Given the description of an element on the screen output the (x, y) to click on. 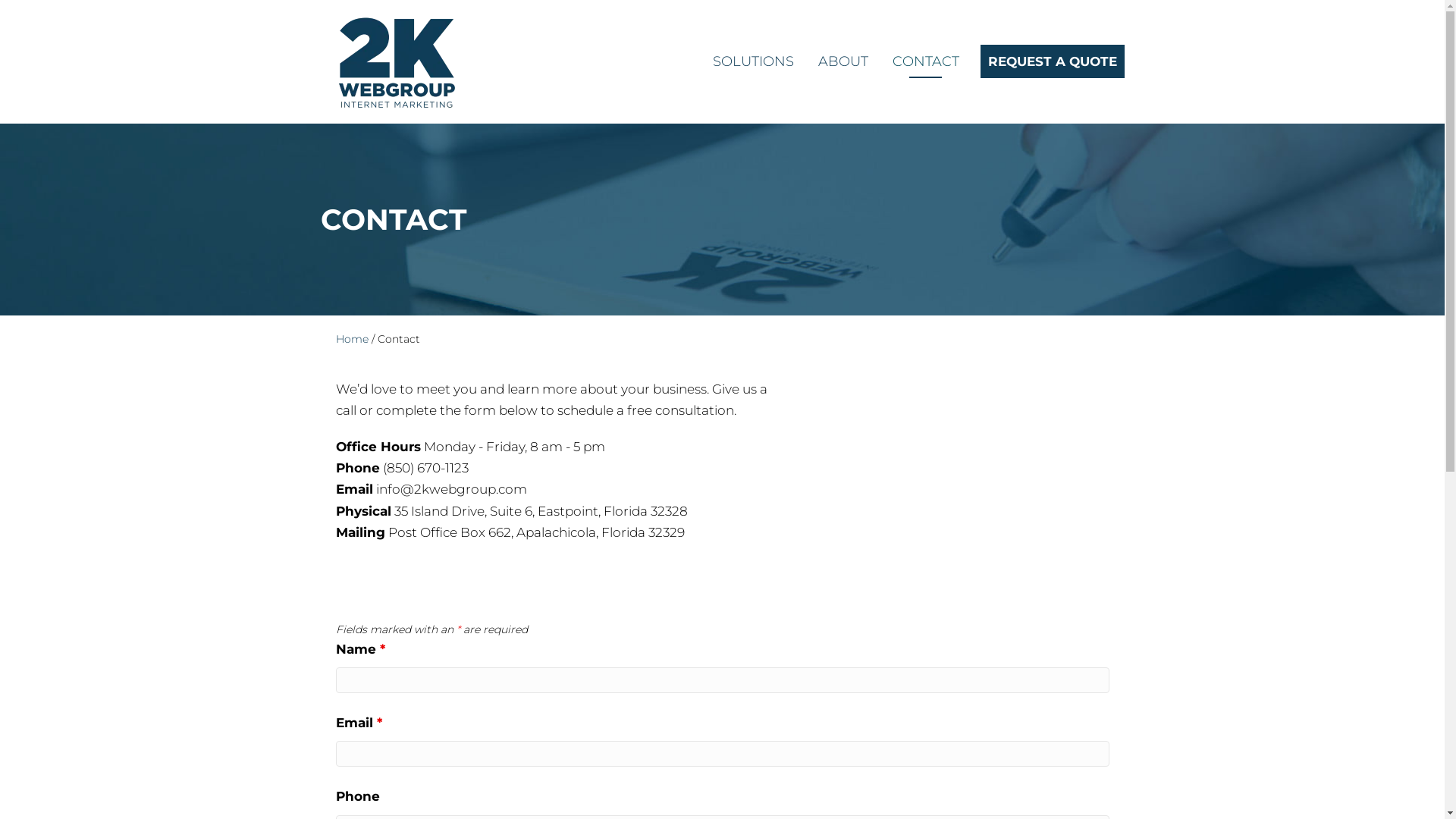
ABOUT Element type: text (842, 62)
REQUEST A QUOTE Element type: text (1051, 61)
SOLUTIONS Element type: text (753, 62)
Home Element type: text (351, 338)
CONTACT Element type: text (924, 62)
2K Web Group Element type: hover (396, 61)
